Given the description of an element on the screen output the (x, y) to click on. 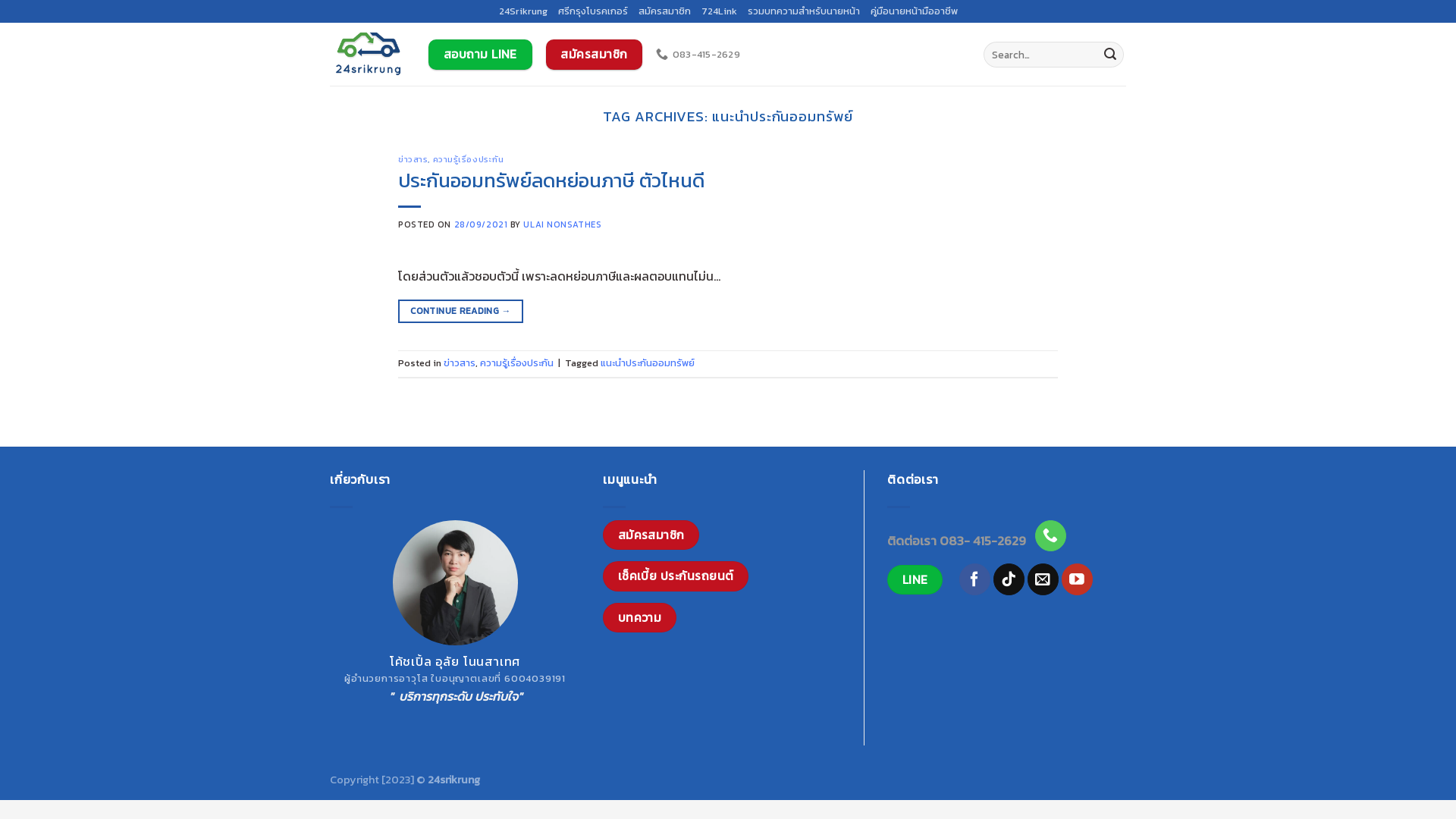
724Link Element type: text (718, 11)
24Srikrung Element type: text (522, 11)
ULAI NONSATHES Element type: text (562, 224)
Skip to content Element type: text (0, 0)
Follow on TikTok Element type: hover (1008, 578)
Follow on YouTube Element type: hover (1076, 578)
LINE Element type: text (914, 579)
Follow on Facebook Element type: hover (974, 578)
Call us Element type: hover (1050, 535)
Send us an email Element type: hover (1042, 578)
083-415-2629 Element type: text (697, 54)
28/09/2021 Element type: text (481, 224)
